Given the description of an element on the screen output the (x, y) to click on. 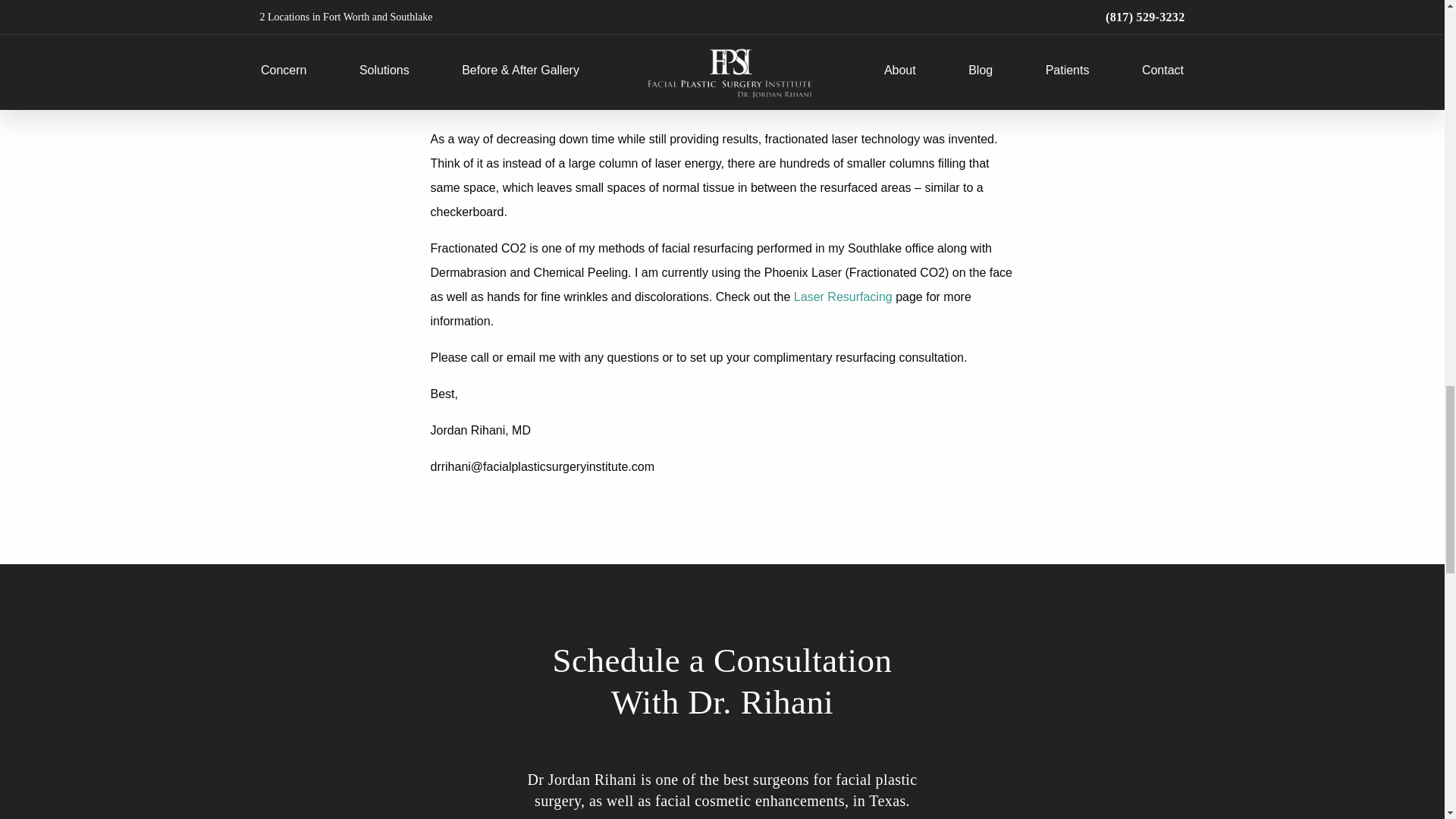
Laser Resurfacing (840, 296)
